Given the description of an element on the screen output the (x, y) to click on. 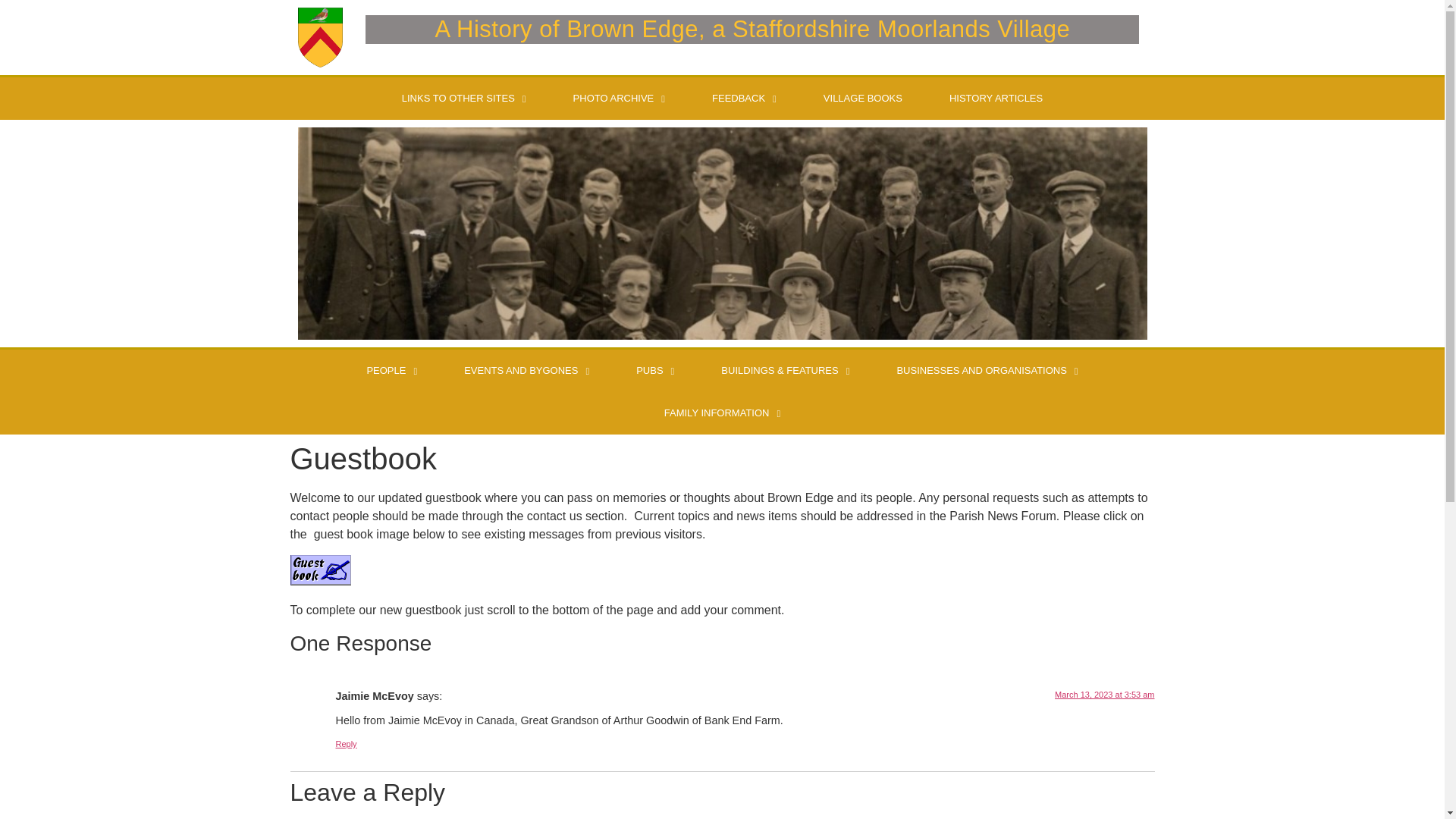
VILLAGE BOOKS (862, 97)
FEEDBACK (743, 97)
LINKS TO OTHER SITES (464, 97)
HISTORY ARTICLES (995, 97)
PHOTO ARCHIVE (619, 97)
